Given the description of an element on the screen output the (x, y) to click on. 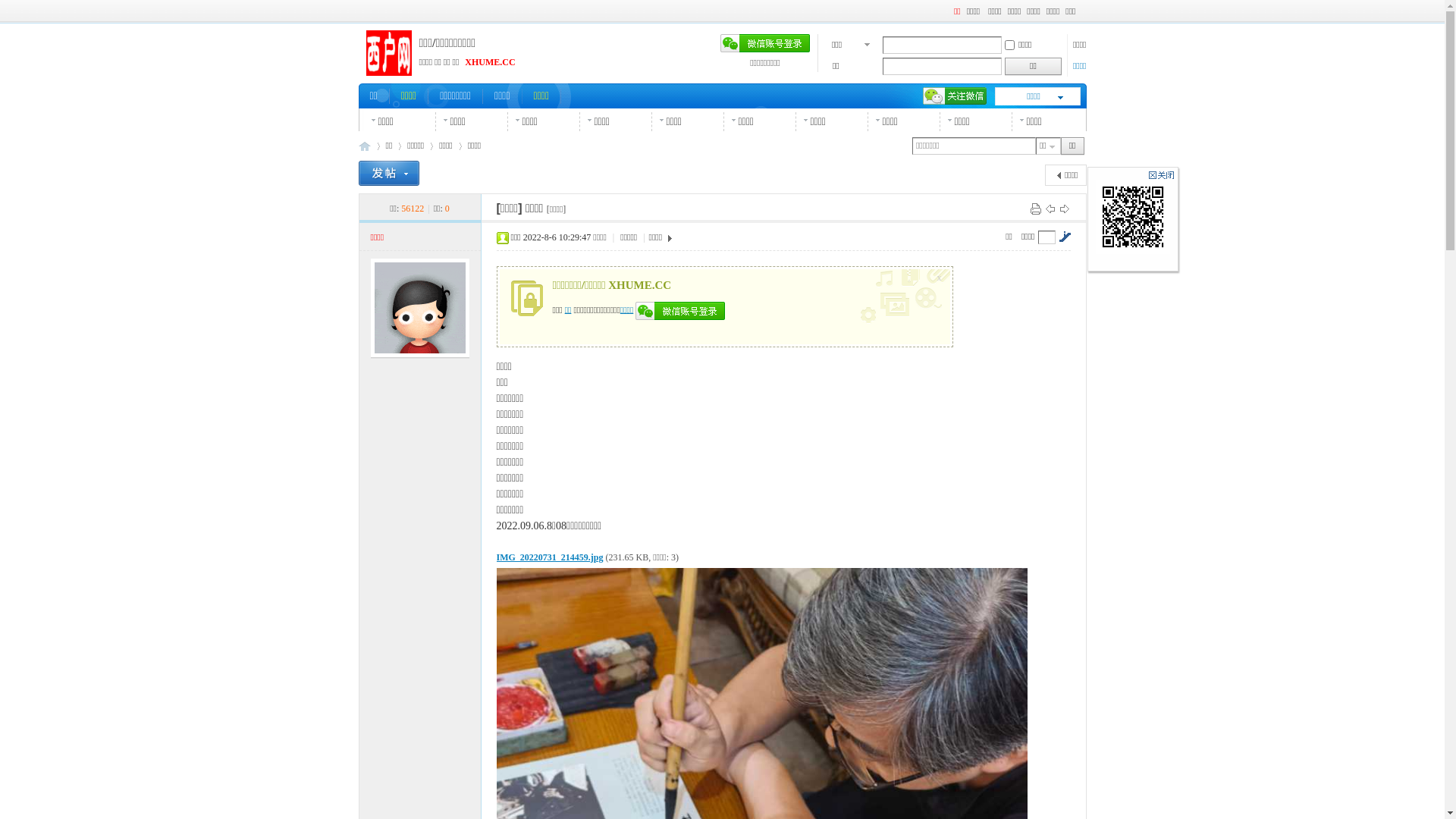
x Element type: text (940, 274)
IMG_20220731_214459.jpg Element type: text (548, 557)
XHUME.CC Element type: text (489, 61)
